Given the description of an element on the screen output the (x, y) to click on. 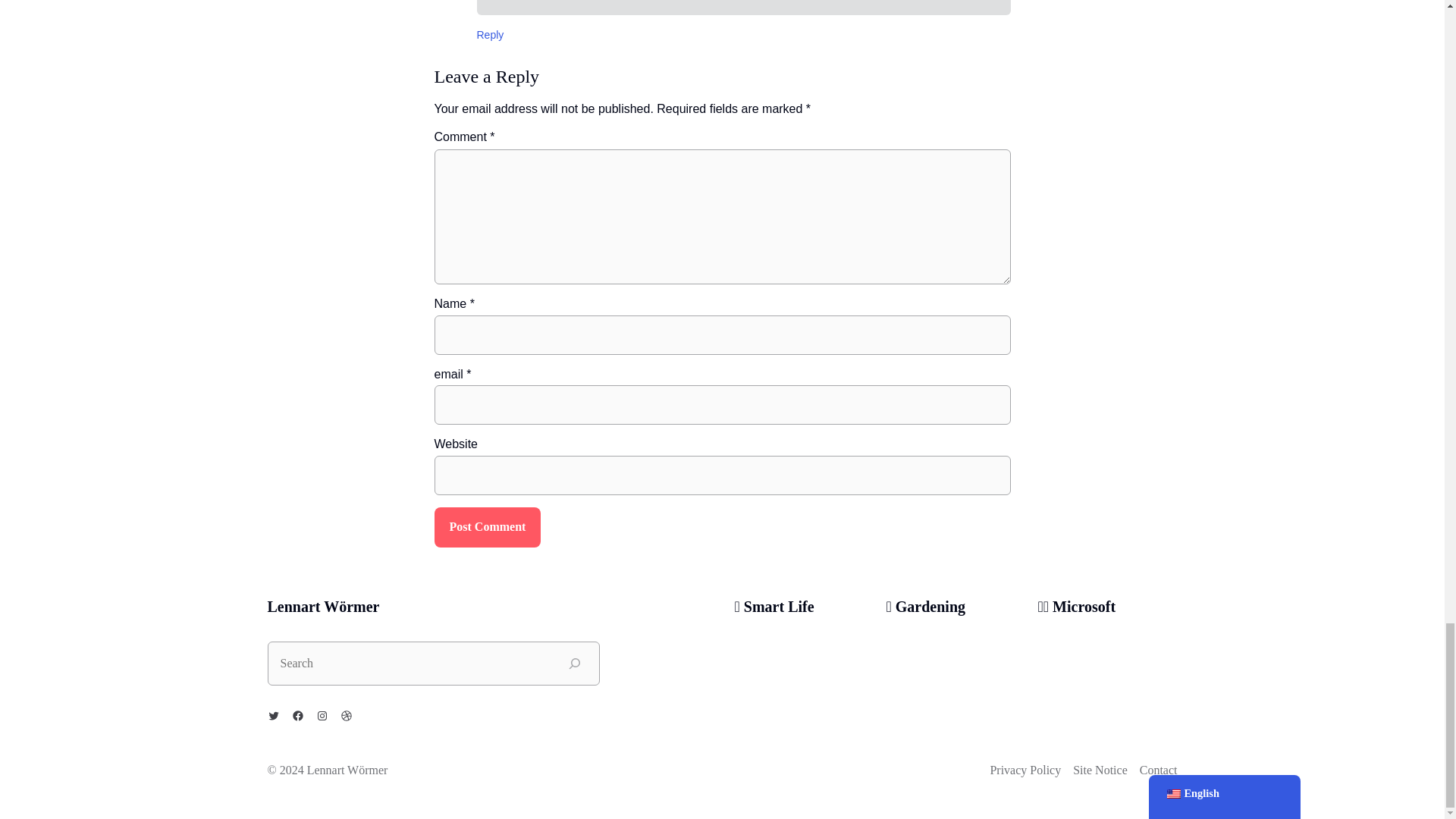
Post Comment (486, 526)
